Given the description of an element on the screen output the (x, y) to click on. 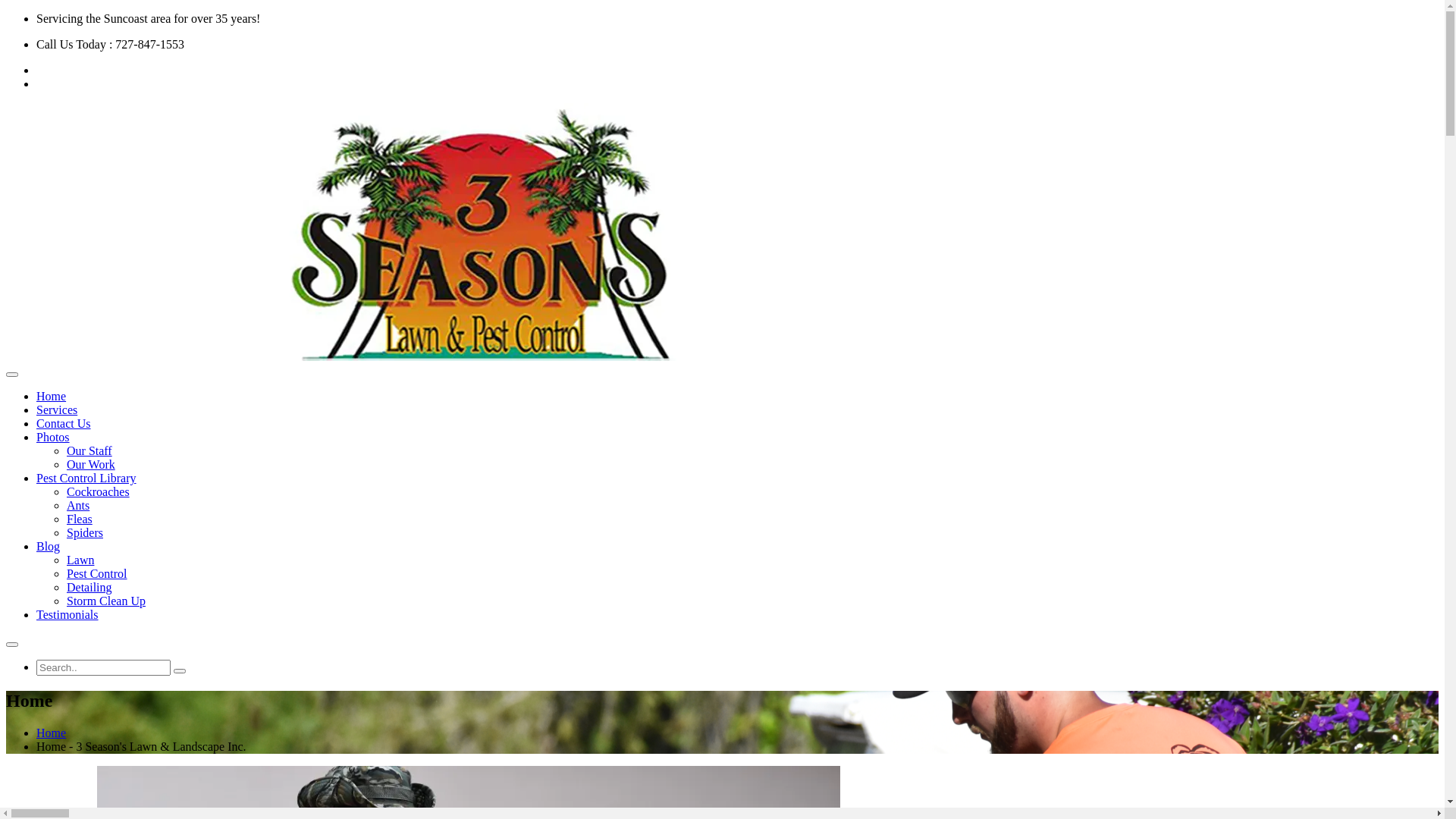
Services Element type: text (56, 409)
Search for: Element type: hover (103, 667)
Contact Us Element type: text (63, 423)
Lawn Element type: text (80, 559)
Testimonials Element type: text (67, 614)
Cockroaches Element type: text (97, 491)
Blog Element type: text (47, 545)
Ants Element type: text (77, 504)
Home Element type: text (50, 732)
Pest Control Library Element type: text (86, 477)
Pest Control Element type: text (96, 573)
Photos Element type: text (52, 436)
Our Staff Element type: text (89, 450)
Fleas Element type: text (79, 518)
Storm Clean Up Element type: text (105, 600)
Our Work Element type: text (90, 464)
Home Element type: text (50, 395)
Detailing Element type: text (89, 586)
Spiders Element type: text (84, 532)
